Given the description of an element on the screen output the (x, y) to click on. 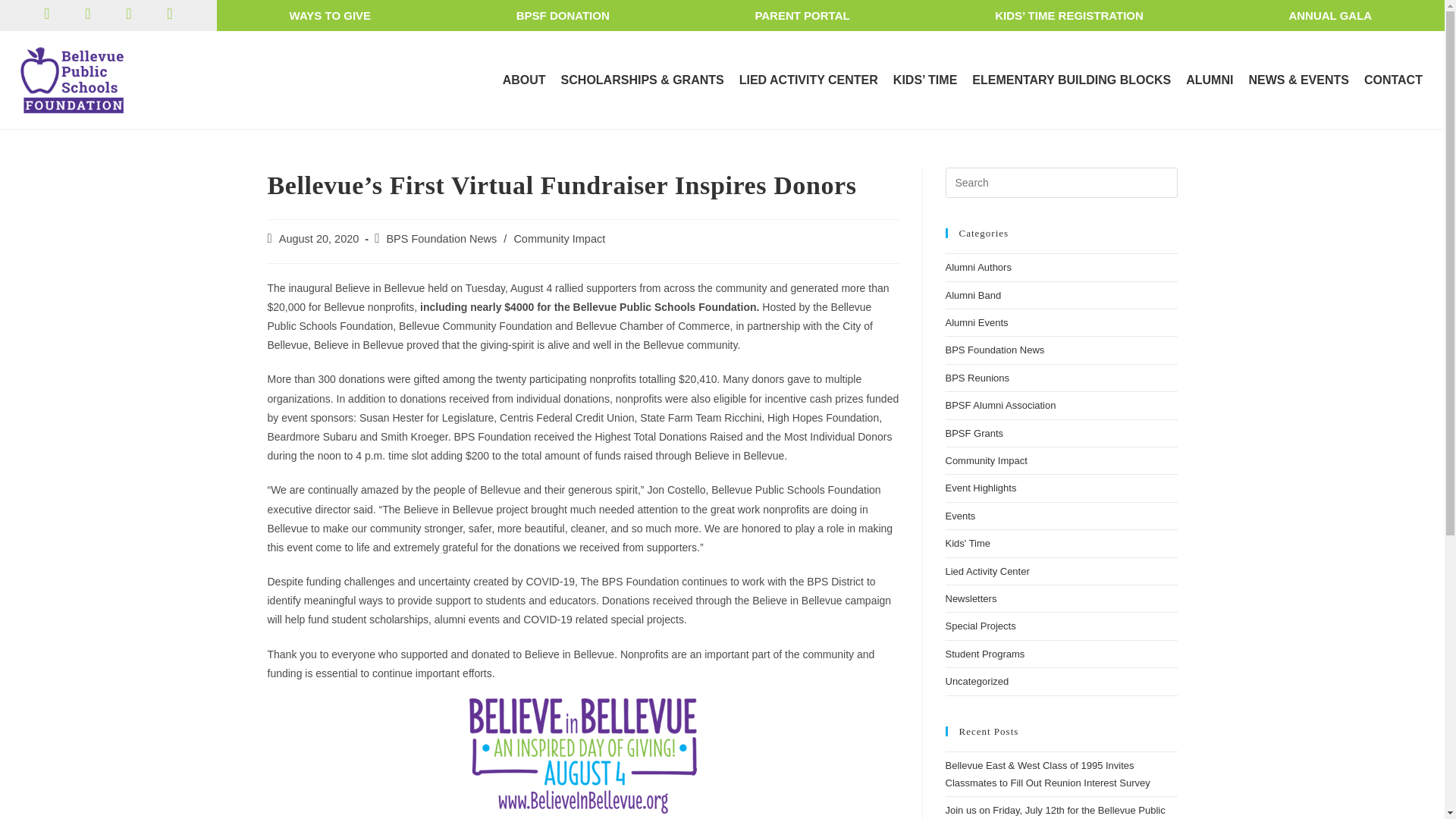
ALUMNI (1208, 80)
PARENT PORTAL (802, 15)
BPSF DONATION (563, 15)
LIED ACTIVITY CENTER (808, 80)
ELEMENTARY BUILDING BLOCKS (1070, 80)
CONTACT (1392, 80)
WAYS TO GIVE (330, 15)
ABOUT (524, 80)
